Given the description of an element on the screen output the (x, y) to click on. 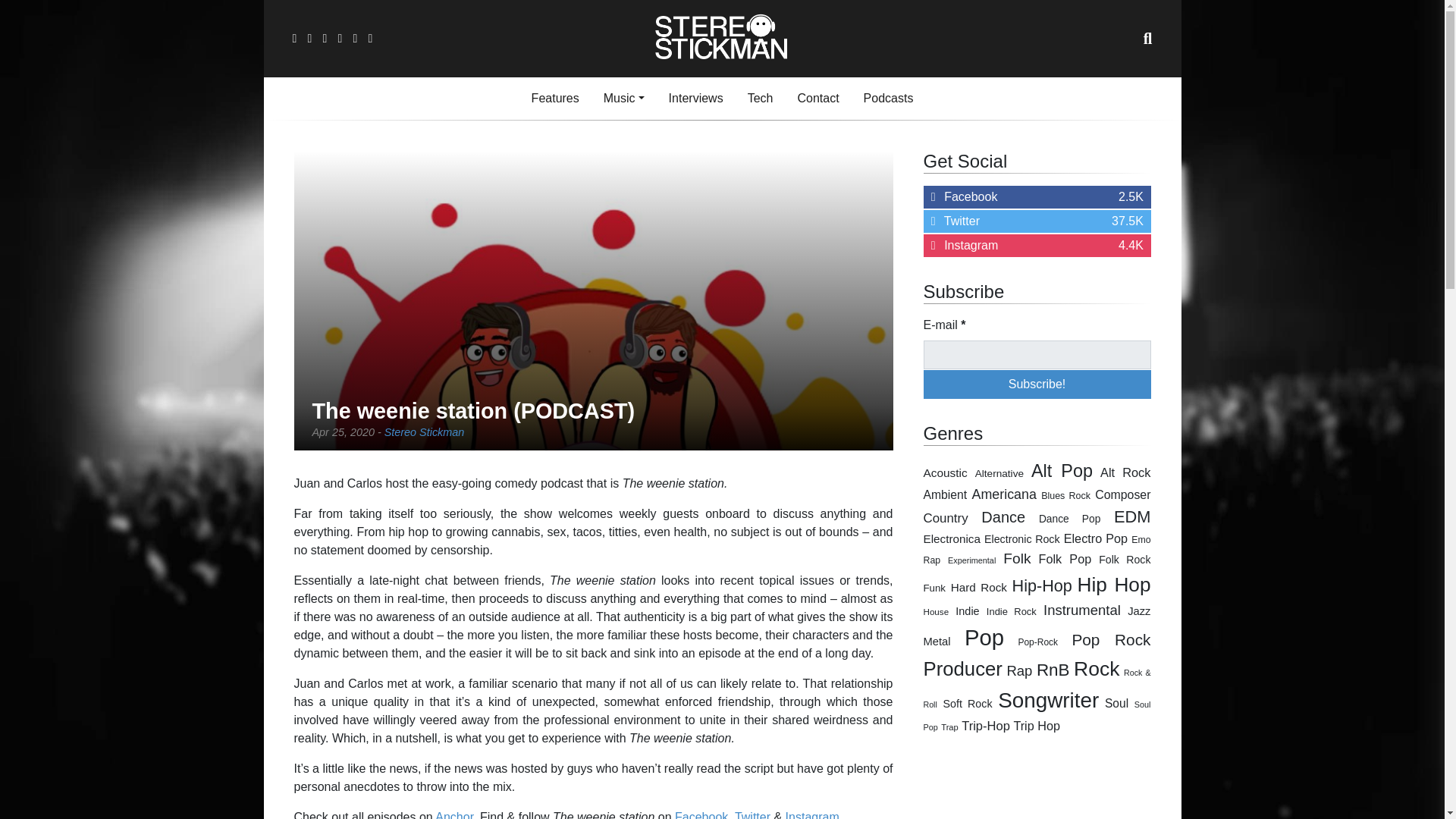
Music (623, 98)
Alt Pop (1037, 245)
Contact (1061, 470)
Subscribe! (817, 98)
Contact (1037, 384)
Podcasts (817, 98)
E-mail (888, 98)
Alternative (1037, 354)
Instagram (999, 473)
